Given the description of an element on the screen output the (x, y) to click on. 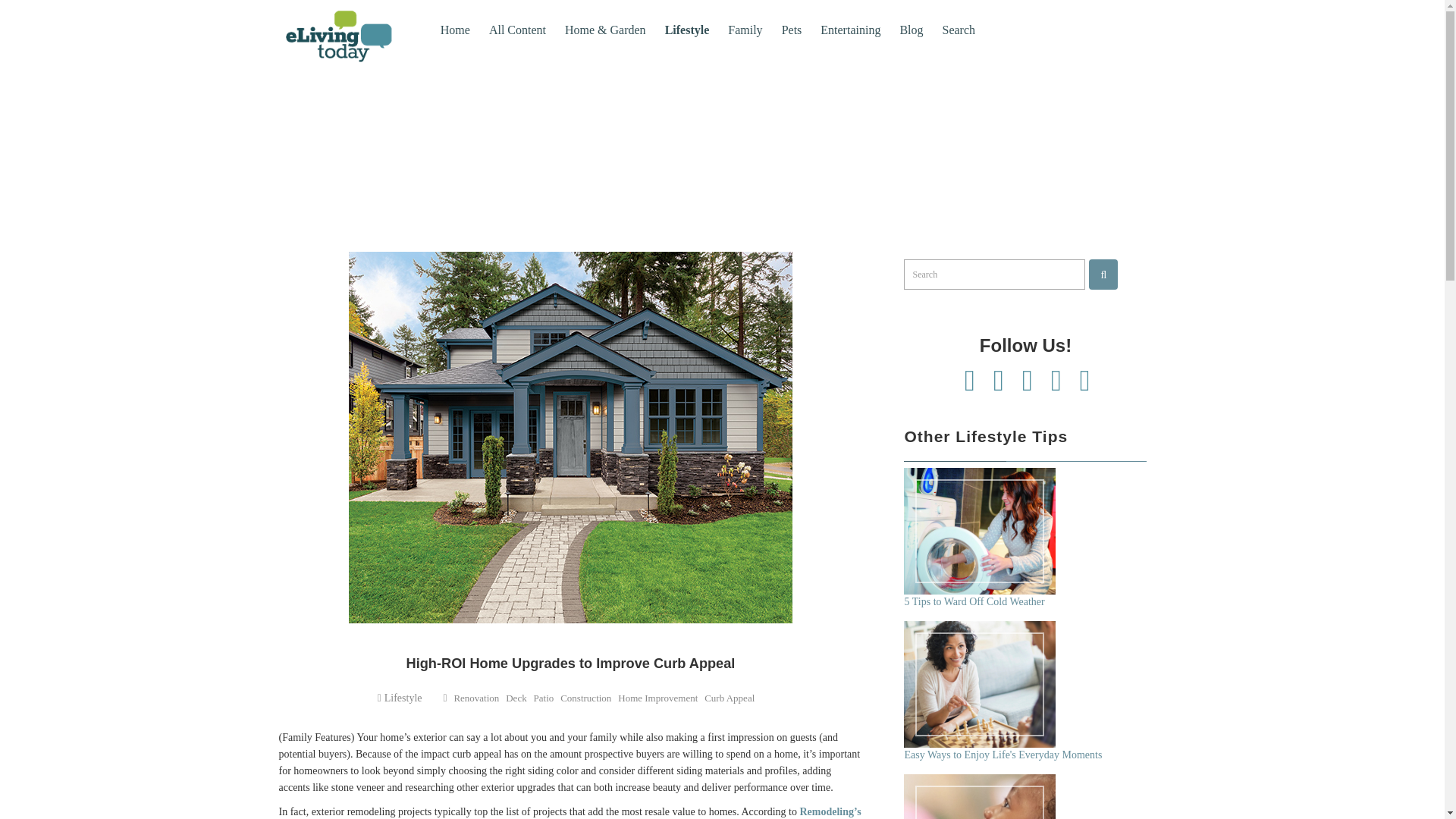
Pets (791, 30)
Continue reading (979, 530)
Continue reading (979, 796)
Click to preview image (570, 436)
Lifestyle (687, 30)
Home Improvement (657, 698)
Renovation (475, 698)
Entertaining (850, 30)
Continue reading (979, 683)
Deck (515, 698)
Curb Appeal (729, 698)
Family (745, 30)
Search (1103, 274)
Construction (585, 698)
All Content (517, 30)
